Given the description of an element on the screen output the (x, y) to click on. 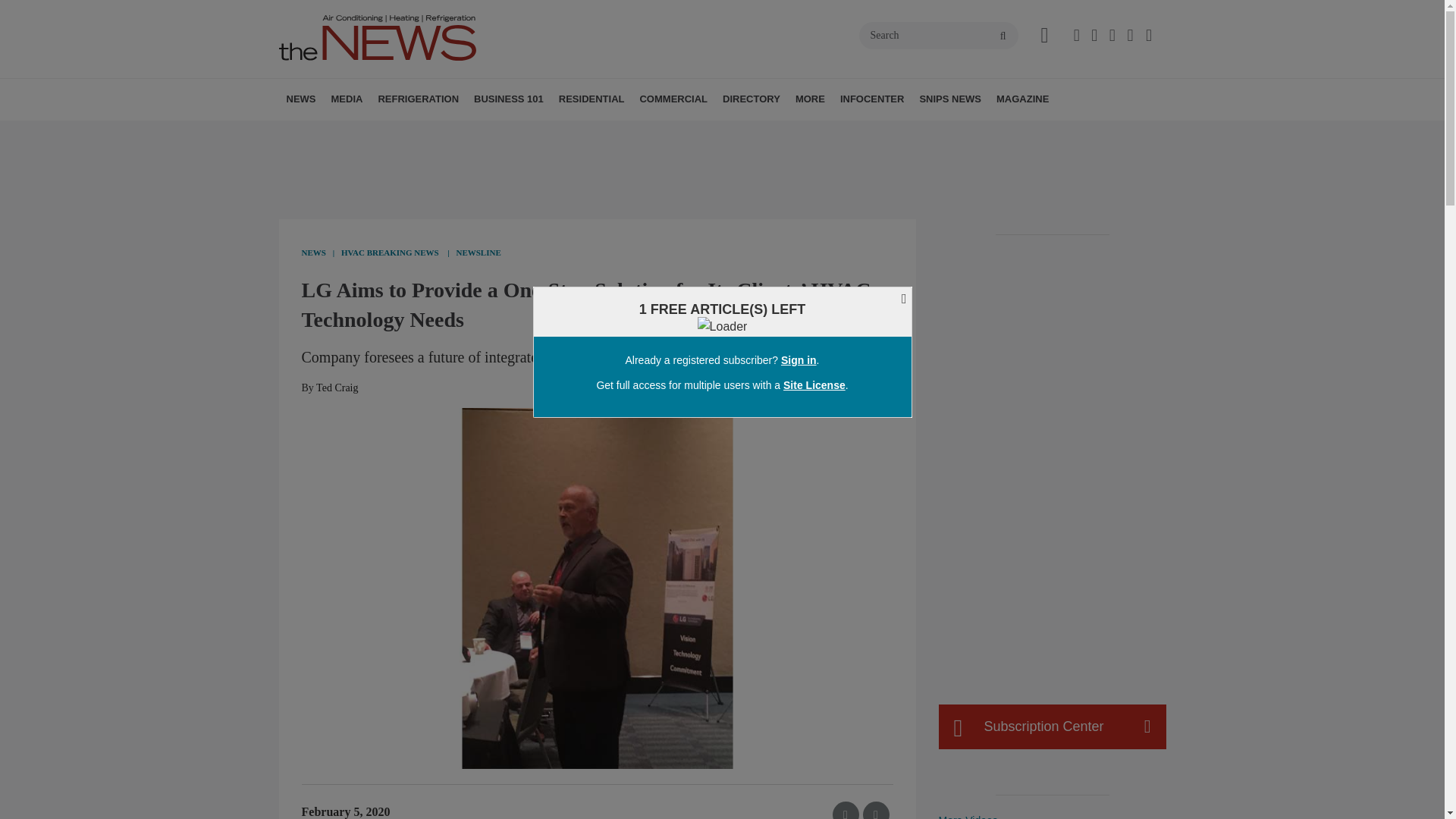
search (1002, 36)
NEWS (301, 98)
AHR EXPO 2024 VIDEOS (424, 132)
Search (938, 35)
MANUFACTURER REPORTS (386, 132)
VIDEOS (417, 132)
Search (938, 35)
WEBINARS (436, 132)
NEW HVAC PRODUCTS (380, 132)
ONLINE POLL (452, 132)
